Given the description of an element on the screen output the (x, y) to click on. 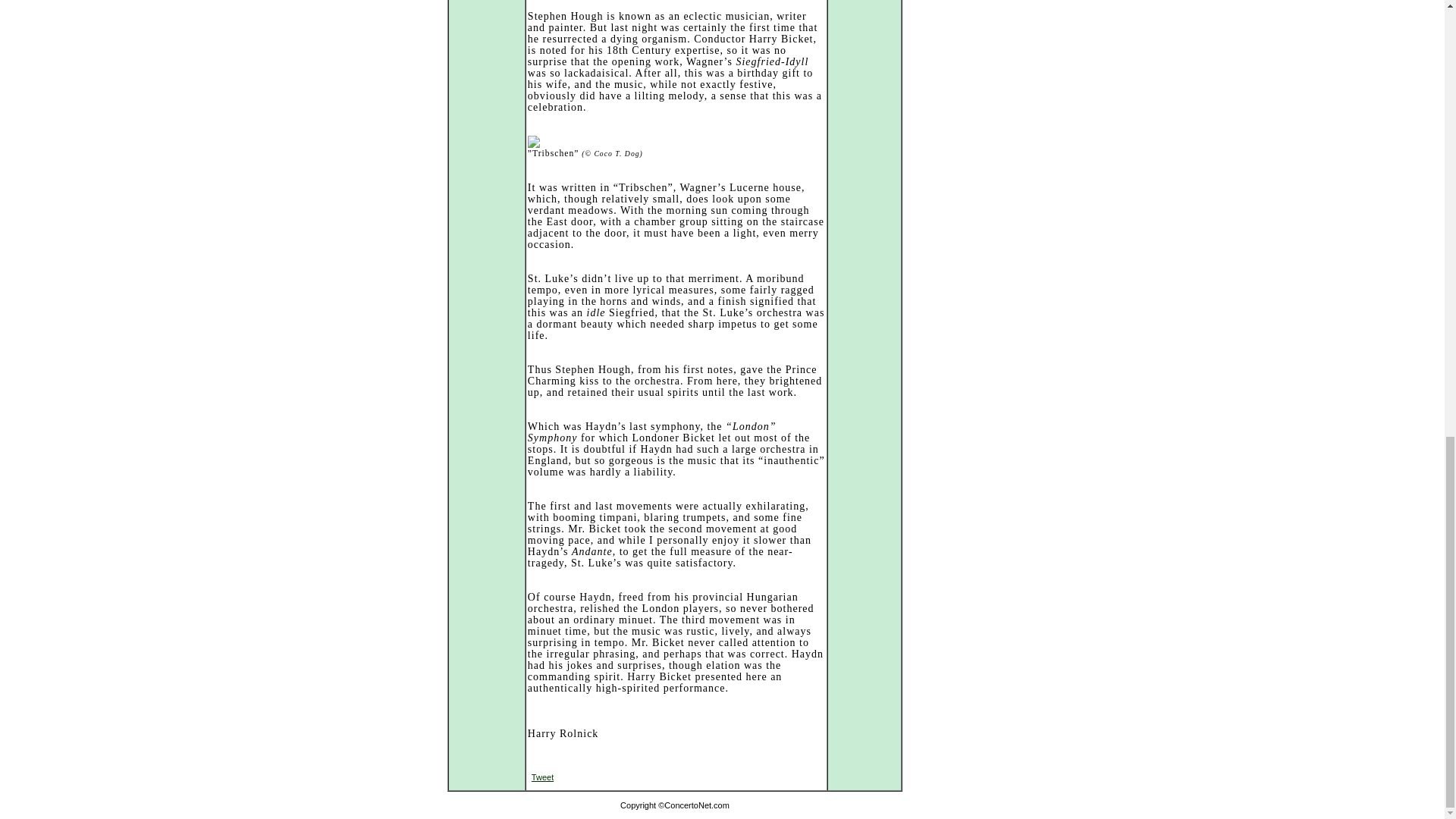
Tweet (542, 777)
